Given the description of an element on the screen output the (x, y) to click on. 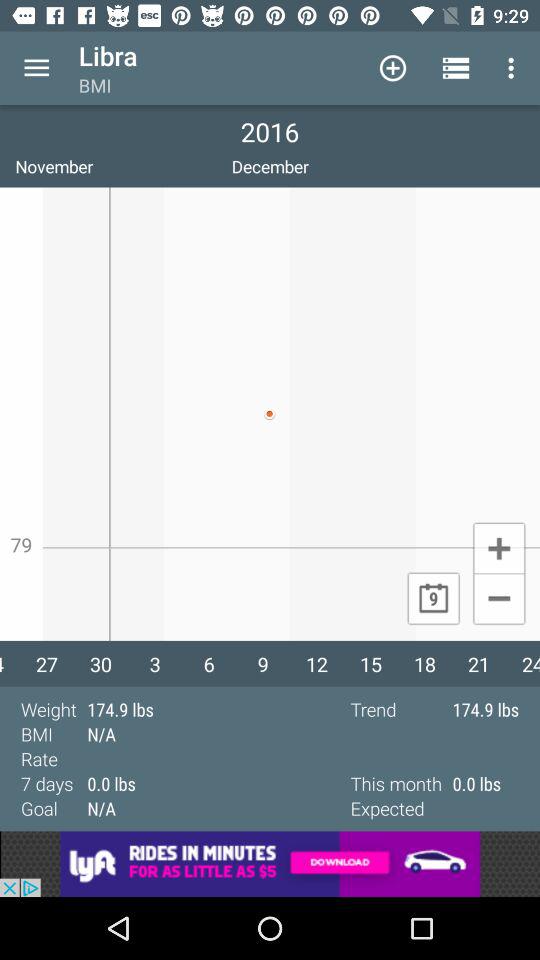
zoom out (498, 599)
